Given the description of an element on the screen output the (x, y) to click on. 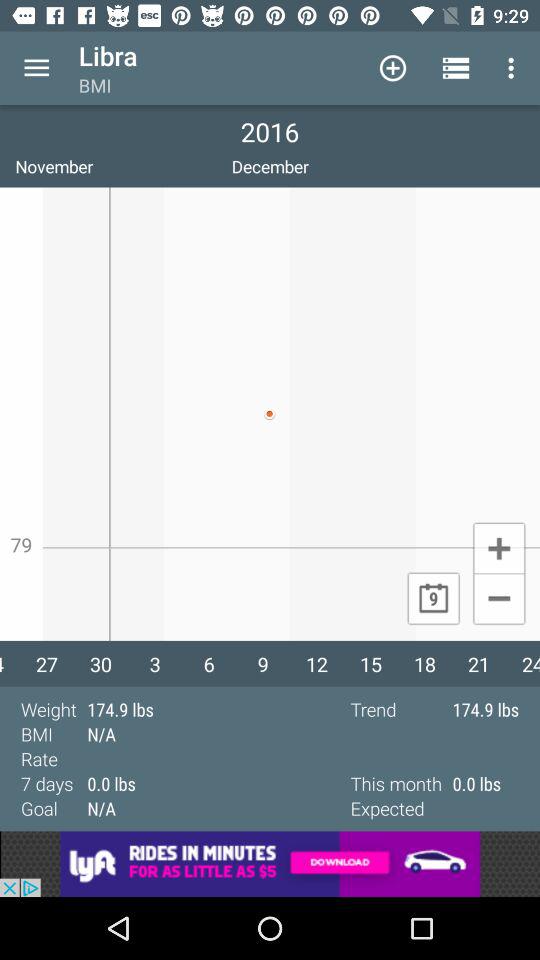
zoom out (498, 599)
